Given the description of an element on the screen output the (x, y) to click on. 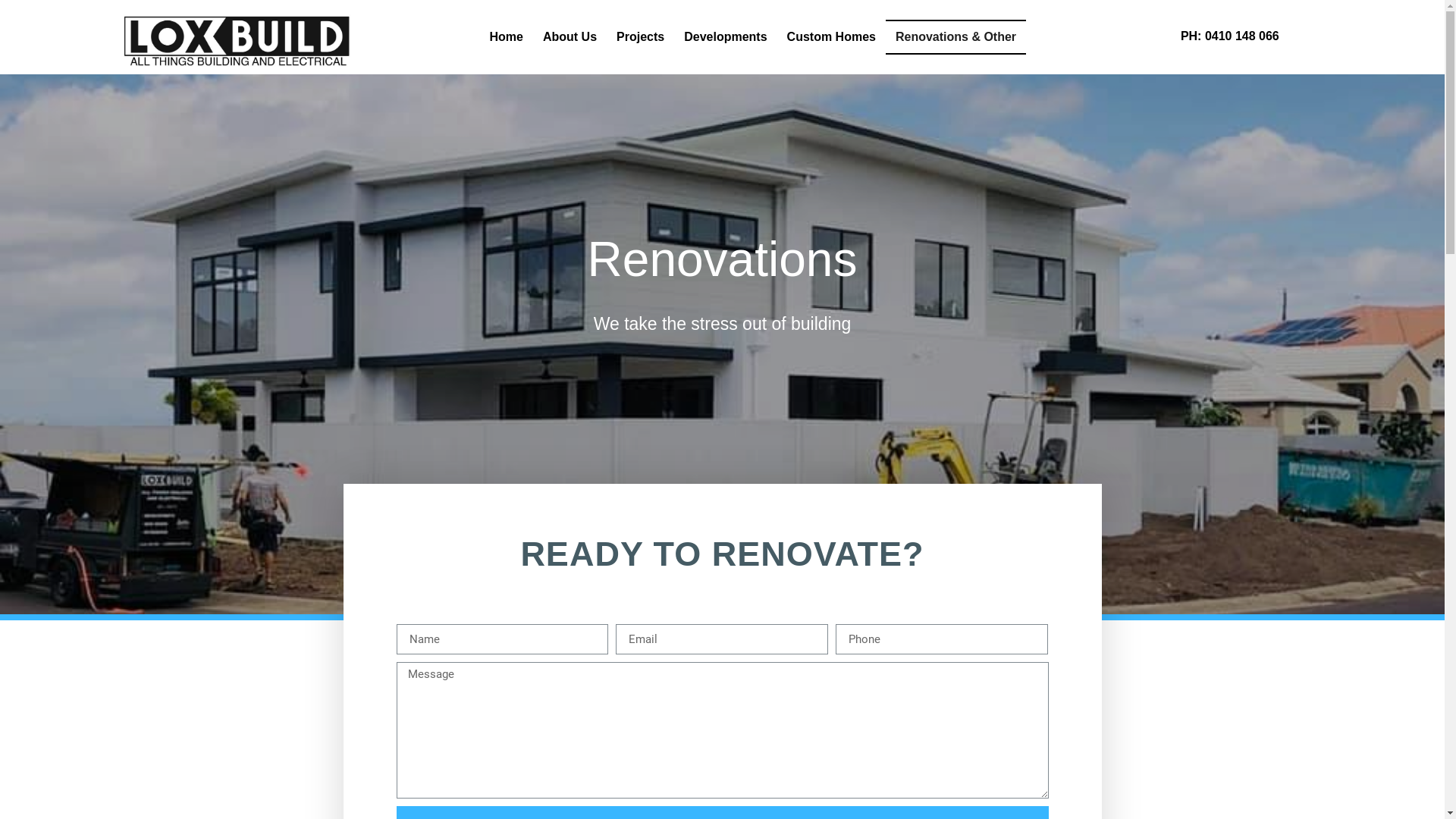
Home Element type: text (505, 36)
Custom Homes Element type: text (831, 36)
About Us Element type: text (569, 36)
Projects Element type: text (640, 36)
Renovations & Other Element type: text (955, 36)
Developments Element type: text (725, 36)
